Given the description of an element on the screen output the (x, y) to click on. 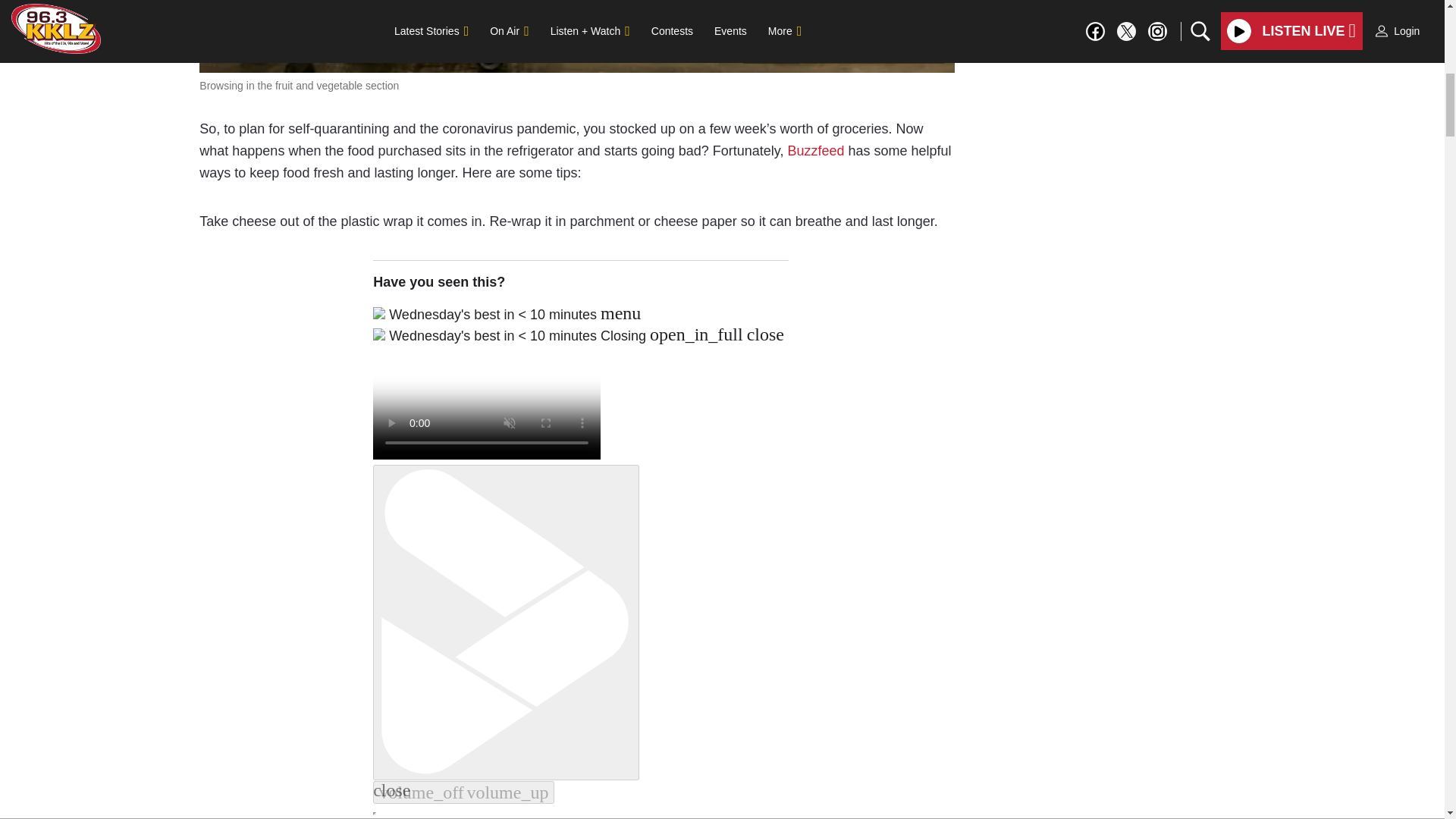
Close AdCheckmark indicating ad close (1434, 11)
